Given the description of an element on the screen output the (x, y) to click on. 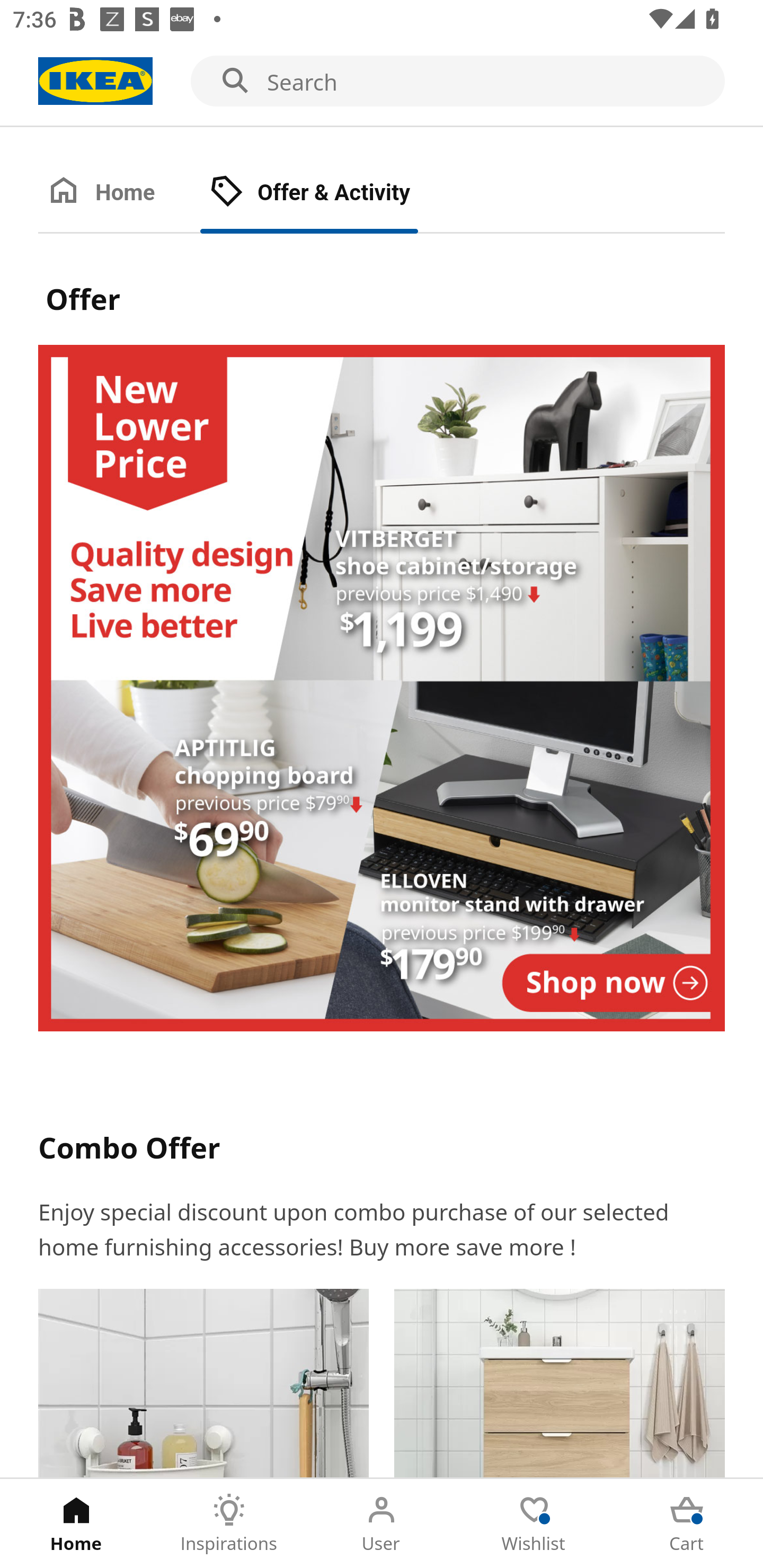
Search (381, 81)
Home
Tab 1 of 2 (118, 192)
Offer & Activity
Tab 2 of 2 (327, 192)
Home
Tab 1 of 5 (76, 1522)
Inspirations
Tab 2 of 5 (228, 1522)
User
Tab 3 of 5 (381, 1522)
Wishlist
Tab 4 of 5 (533, 1522)
Cart
Tab 5 of 5 (686, 1522)
